Given the description of an element on the screen output the (x, y) to click on. 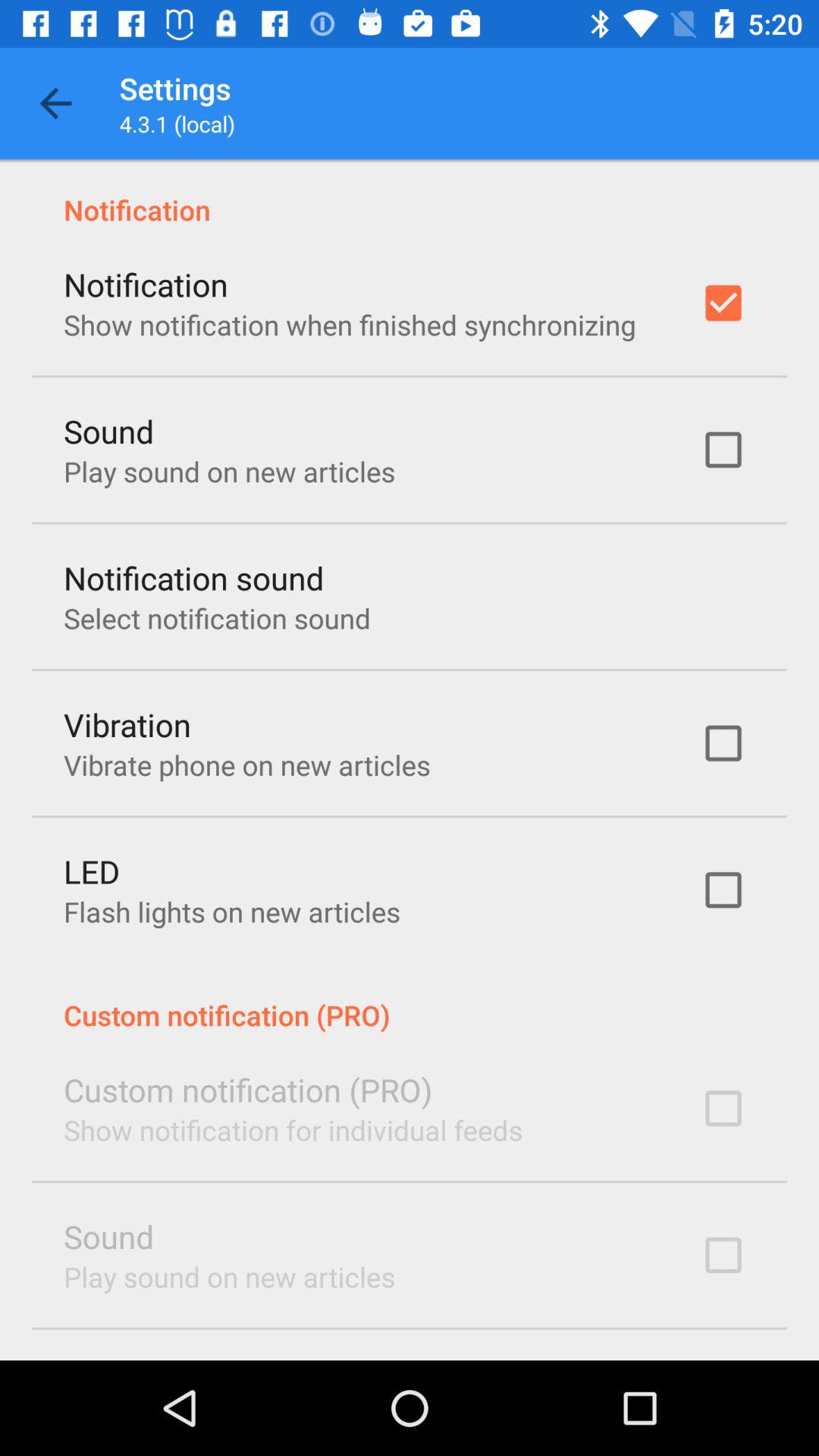
choose the item below the select notification sound (127, 724)
